Given the description of an element on the screen output the (x, y) to click on. 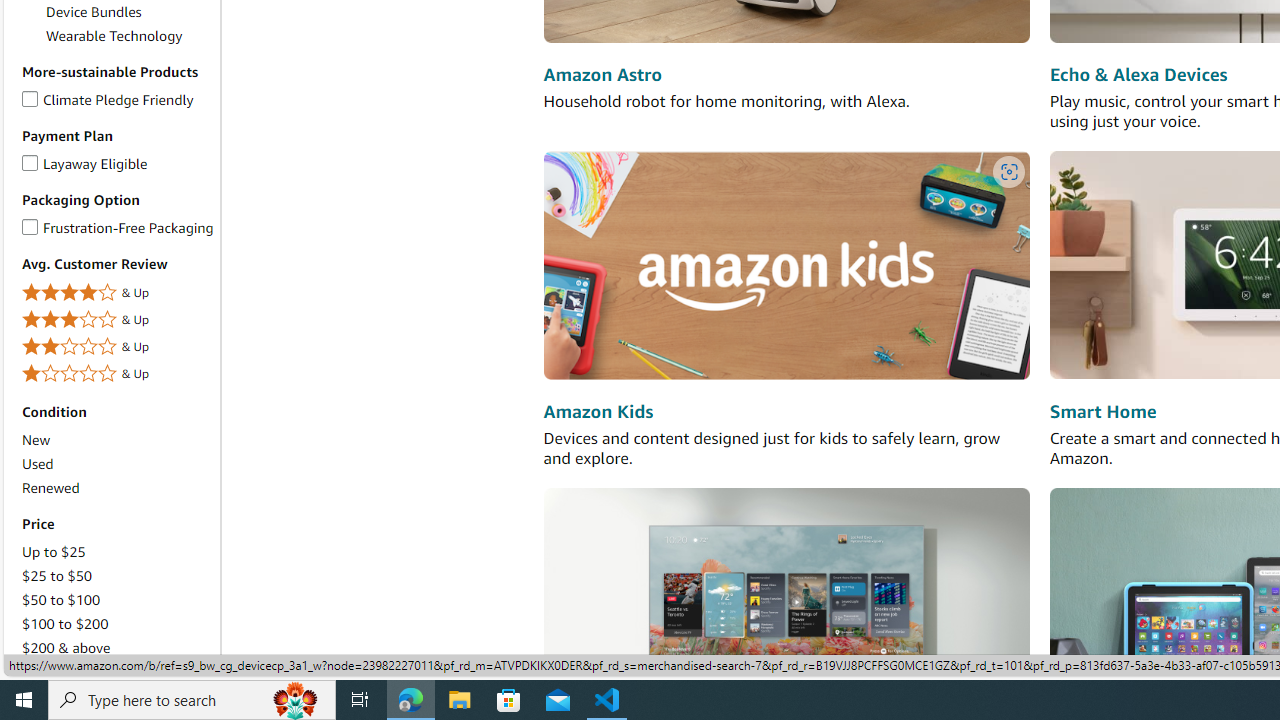
$100 to $200 (64, 623)
Climate Pledge Friendly Climate Pledge Friendly (107, 98)
3 Stars & Up& Up (117, 319)
Fire TV devices (786, 600)
$100 to $200 (117, 624)
Device Bundles (129, 12)
Up to $25 (53, 551)
3 Stars & Up (117, 319)
Up to $25 (117, 552)
Echo & Alexa Devices (1138, 75)
New (117, 439)
$50 to $100 (117, 599)
2 Stars & Up& Up (117, 347)
2 Stars & Up (117, 346)
